Given the description of an element on the screen output the (x, y) to click on. 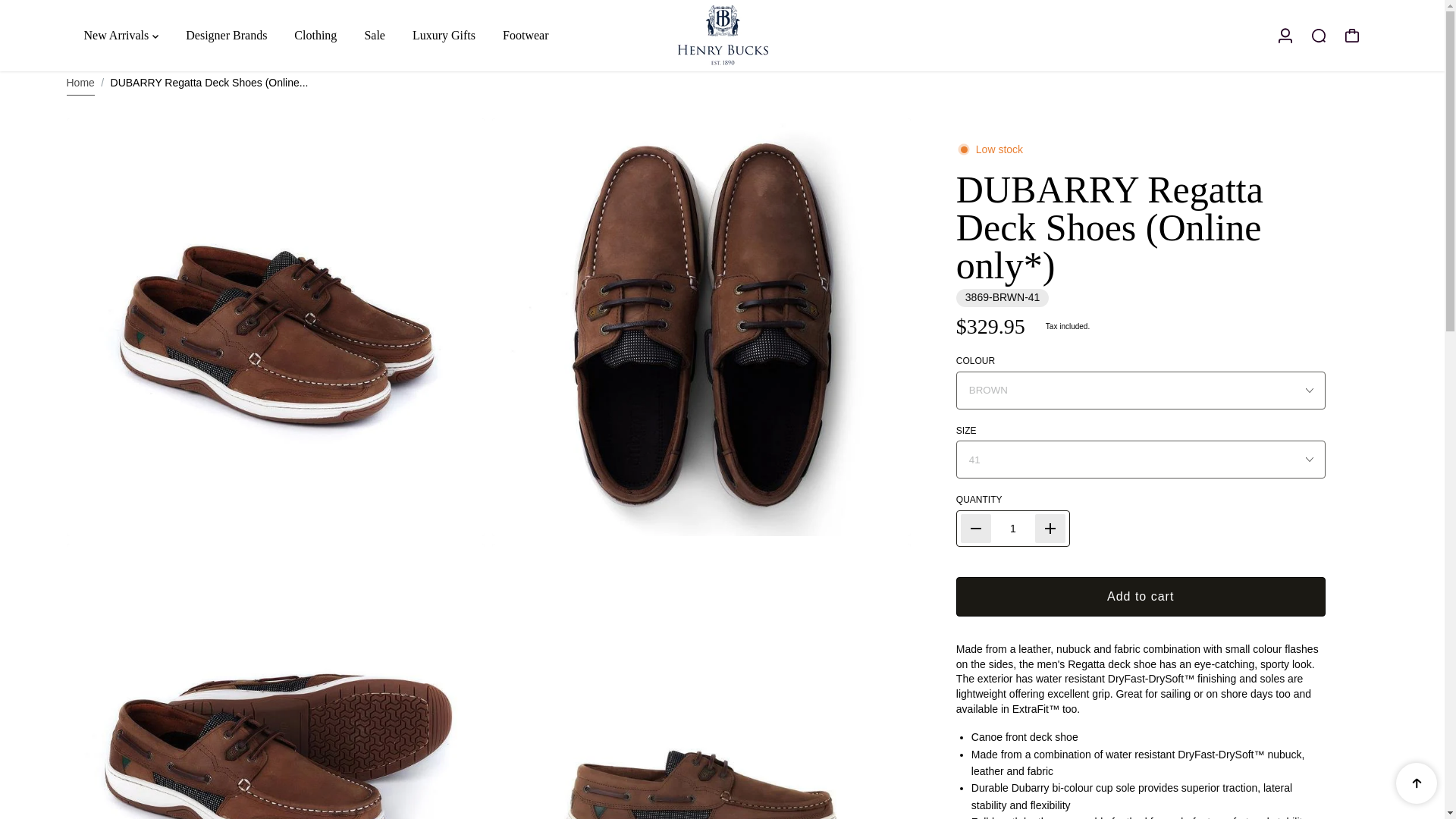
Luxury Gifts (443, 35)
New Arrivals (120, 35)
Add to cart (1140, 596)
1 (1013, 528)
Search (1318, 35)
Log in (1284, 35)
Clothing (315, 35)
Home (80, 83)
Footwear (525, 35)
Designer Brands (226, 35)
